Given the description of an element on the screen output the (x, y) to click on. 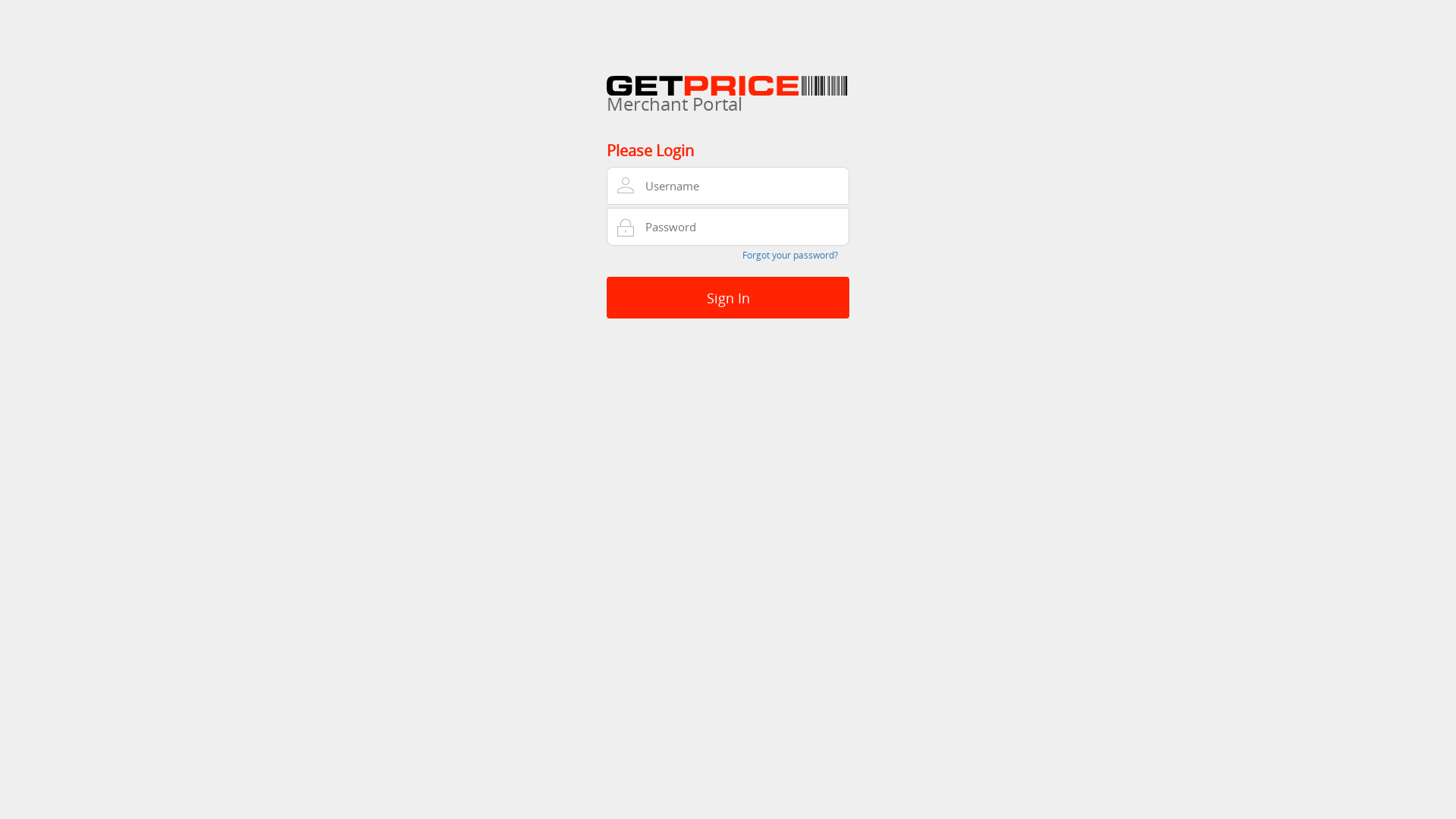
Sign In Element type: text (727, 297)
Forgot your password? Element type: text (789, 254)
